Given the description of an element on the screen output the (x, y) to click on. 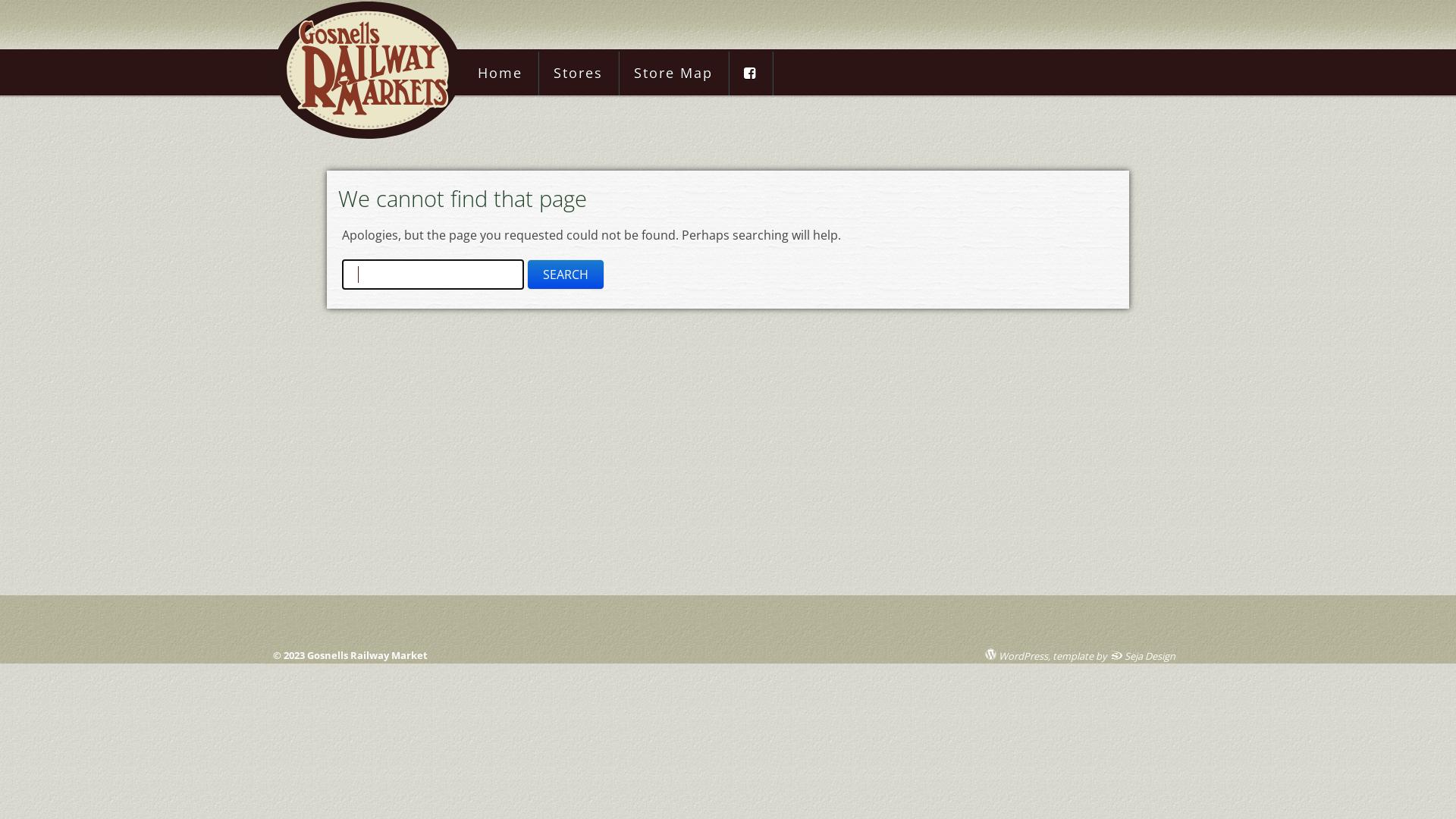
Store Map Element type: text (673, 73)
Seja Design Element type: text (1141, 655)
Stores Element type: text (578, 73)
WordPress Element type: text (1015, 655)
Search Element type: text (566, 274)
Home Element type: text (499, 73)
